Given the description of an element on the screen output the (x, y) to click on. 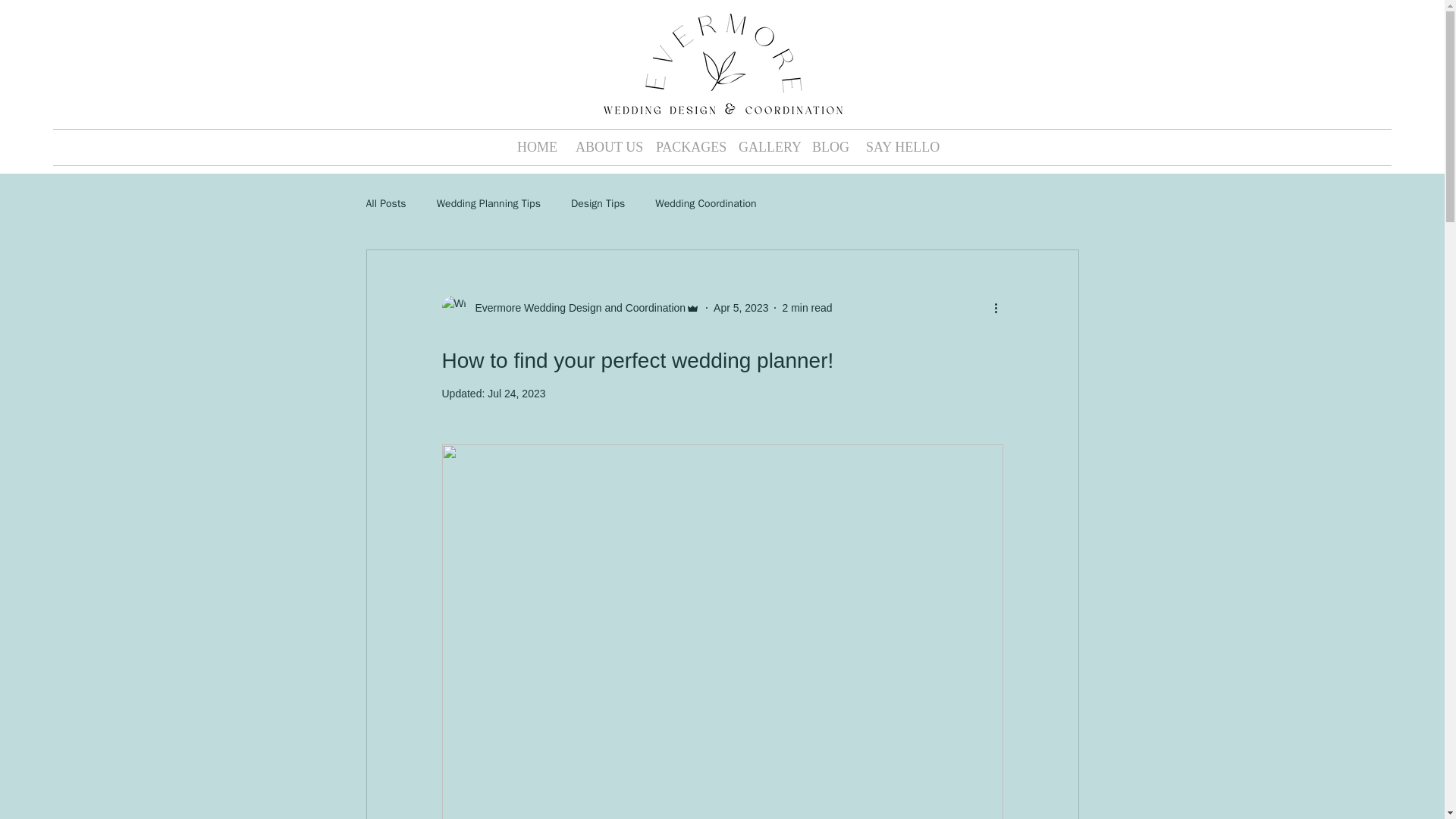
BLOG (827, 147)
HOME (534, 147)
PACKAGES (685, 147)
SAY HELLO (896, 147)
Wedding Planning Tips (488, 203)
All Posts (385, 203)
Design Tips (597, 203)
Evermore Wedding Design and Coordination (575, 308)
ABOUT US (604, 147)
Jul 24, 2023 (515, 393)
2 min read (806, 307)
Wedding Coordination (705, 203)
Evermore Wedding Design and Coordination (570, 307)
Apr 5, 2023 (740, 307)
GALLERY (763, 147)
